Given the description of an element on the screen output the (x, y) to click on. 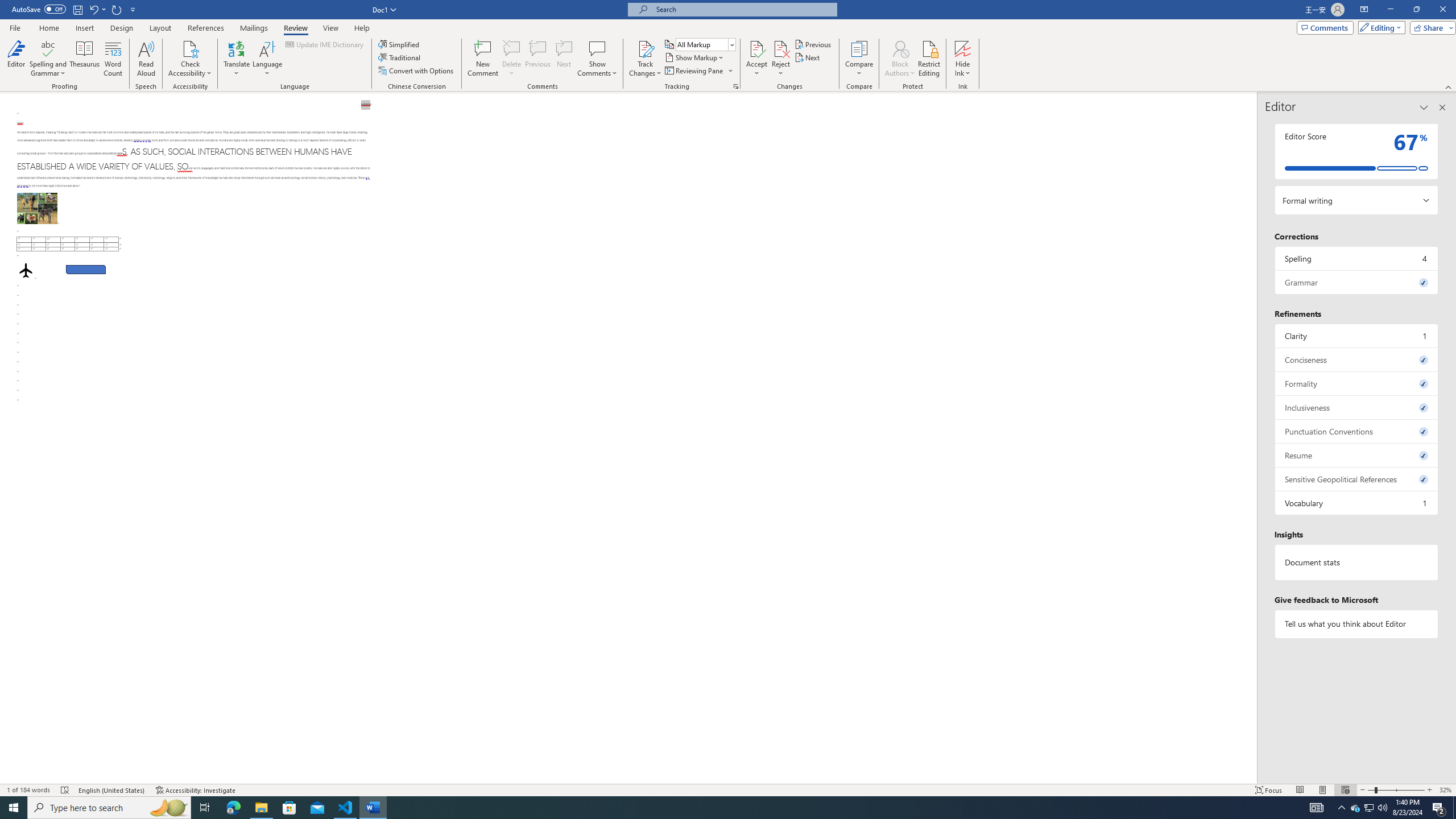
Layout (160, 28)
Reviewing Pane (694, 69)
Open (731, 44)
Help (361, 28)
Editor (16, 58)
Read Mode (1299, 790)
Next (808, 56)
Zoom In (1430, 790)
Restrict Editing (929, 58)
Track Changes (644, 58)
Update IME Dictionary... (324, 44)
Show Comments (597, 48)
Class: NetUIScrollBar (1251, 437)
Save (77, 9)
